Given the description of an element on the screen output the (x, y) to click on. 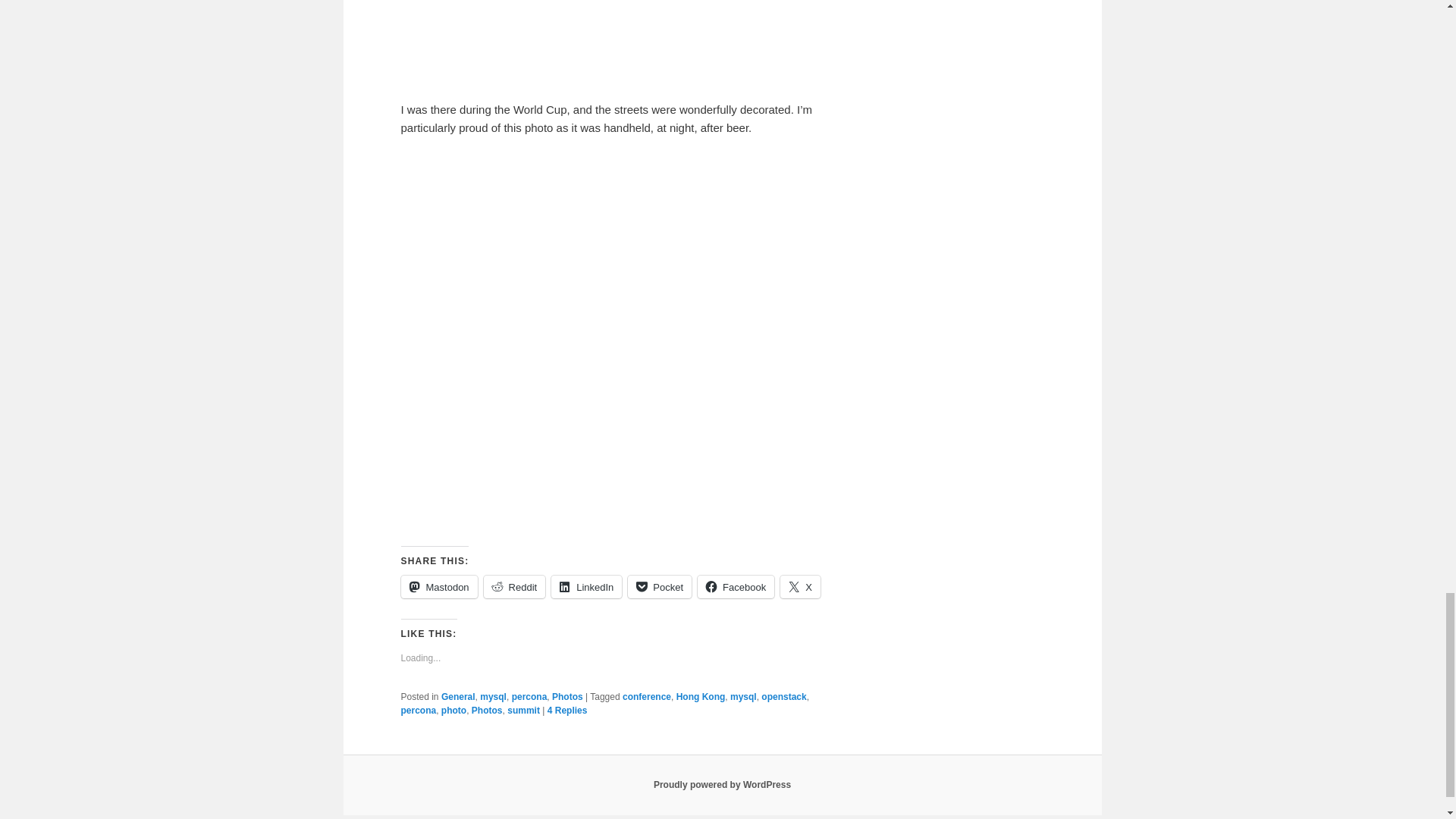
Click to share on Reddit (514, 586)
Click to share on X (800, 586)
4 Replies (567, 710)
X (800, 586)
mysql (493, 696)
Hong Kong streetlife by stewartesmith, on Flickr (526, 517)
General (458, 696)
percona (417, 710)
Mastodon (438, 586)
Semantic Personal Publishing Platform (721, 784)
Click to share on Facebook (735, 586)
summit (523, 710)
Facebook (735, 586)
Click to share on LinkedIn (586, 586)
